Given the description of an element on the screen output the (x, y) to click on. 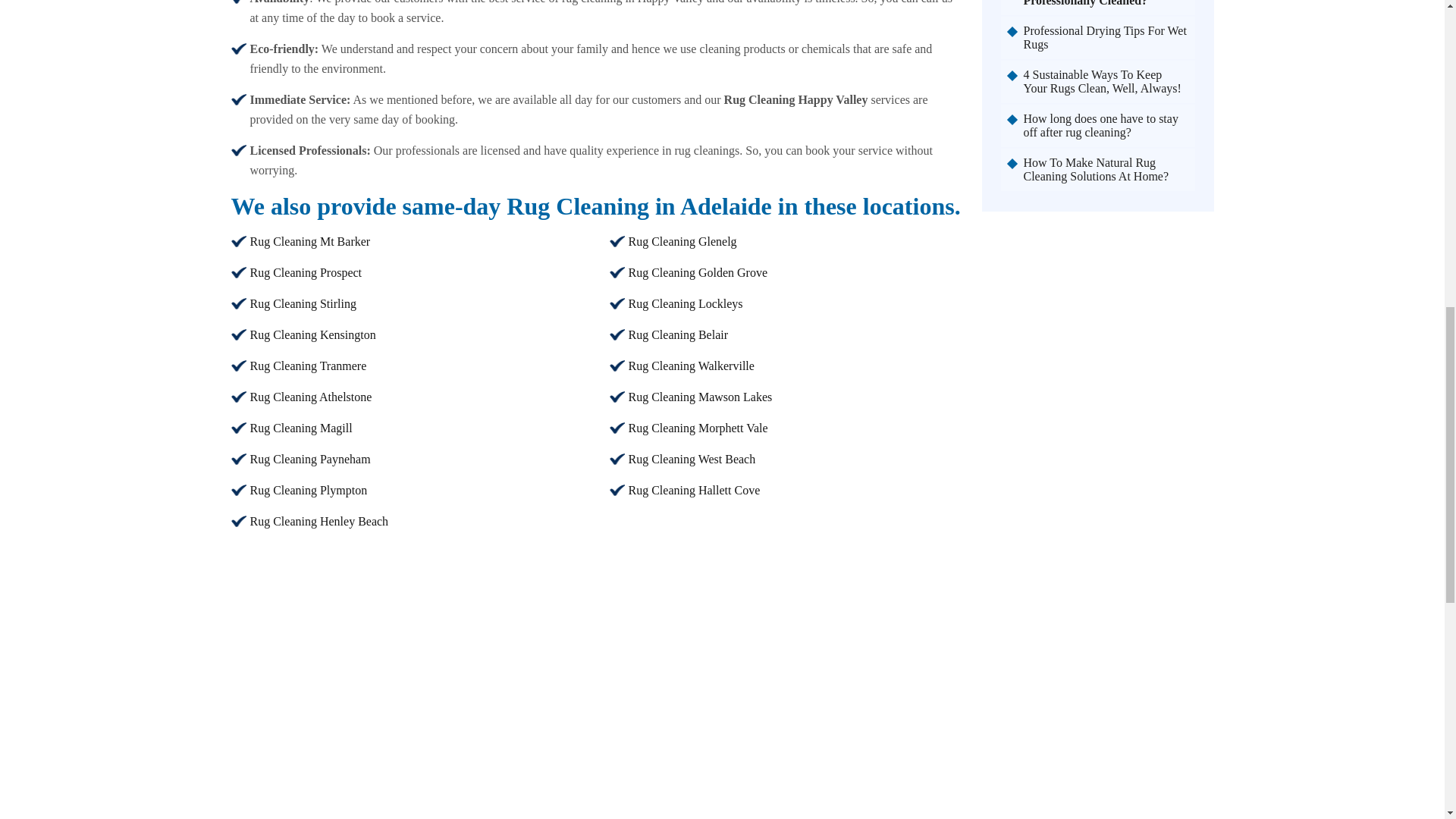
Rug Cleaning Athelstone (311, 396)
Rug Cleaning Magill (301, 427)
Rug Cleaning Mt Barker (310, 241)
Rug Cleaning Stirling (303, 303)
Rug Cleaning Tranmere (308, 365)
Rug Cleaning Payneham (310, 459)
Rug Cleaning Prospect (306, 272)
Rug Cleaning Kensington (312, 334)
